Given the description of an element on the screen output the (x, y) to click on. 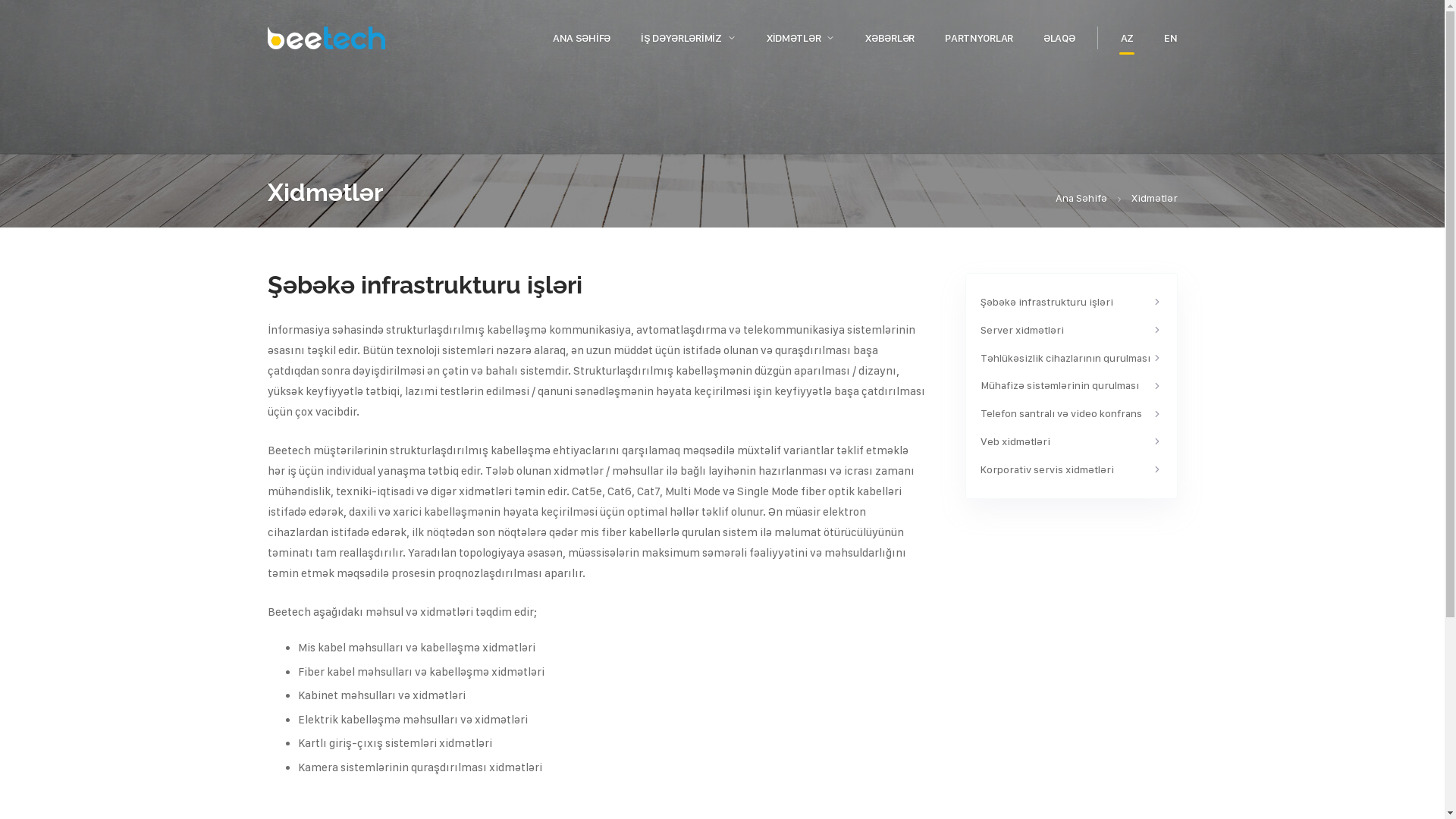
PARTNYORLAR Element type: text (978, 38)
AZ Element type: text (1126, 38)
EN Element type: text (1170, 38)
BeeTech LLC Element type: hover (325, 37)
